Given the description of an element on the screen output the (x, y) to click on. 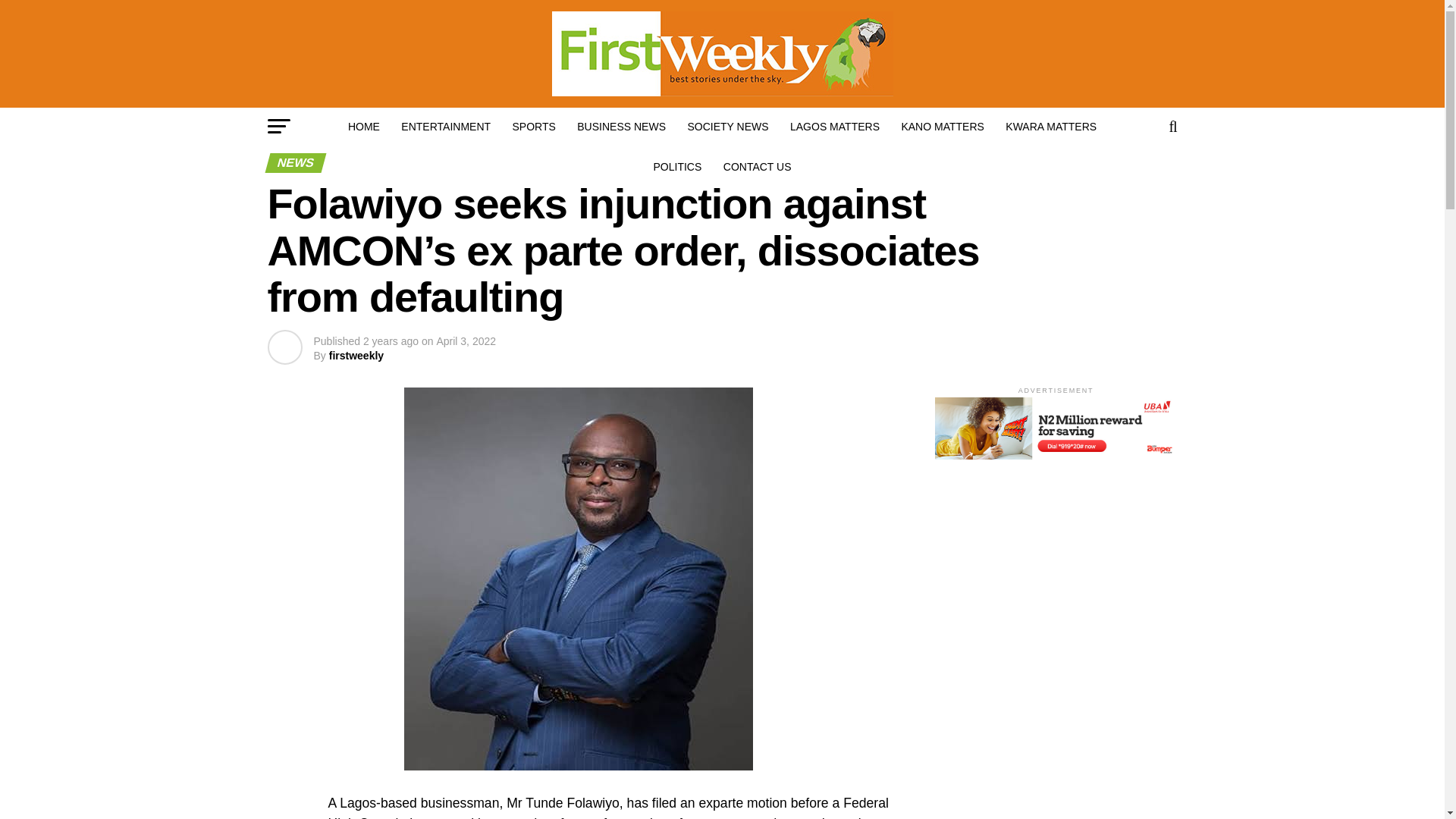
ENTERTAINMENT (445, 126)
firstweekly (356, 355)
CONTACT US (757, 166)
POLITICS (678, 166)
SOCIETY NEWS (727, 126)
KANO MATTERS (941, 126)
SPORTS (533, 126)
Posts by firstweekly (356, 355)
KWARA MATTERS (1050, 126)
BUSINESS NEWS (621, 126)
HOME (363, 126)
LAGOS MATTERS (834, 126)
